Given the description of an element on the screen output the (x, y) to click on. 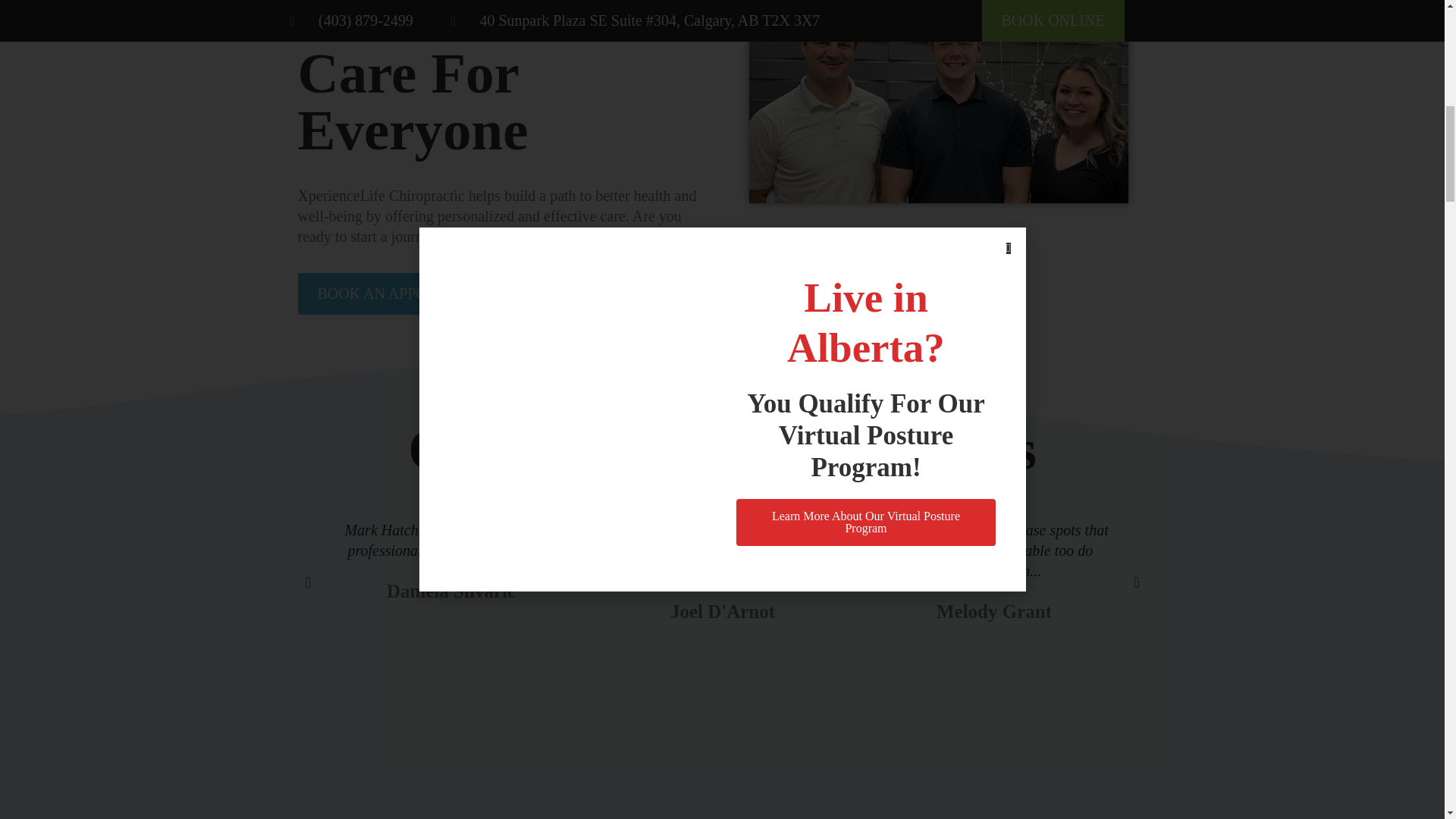
BOOK AN APPOINTMENT (405, 293)
